Given the description of an element on the screen output the (x, y) to click on. 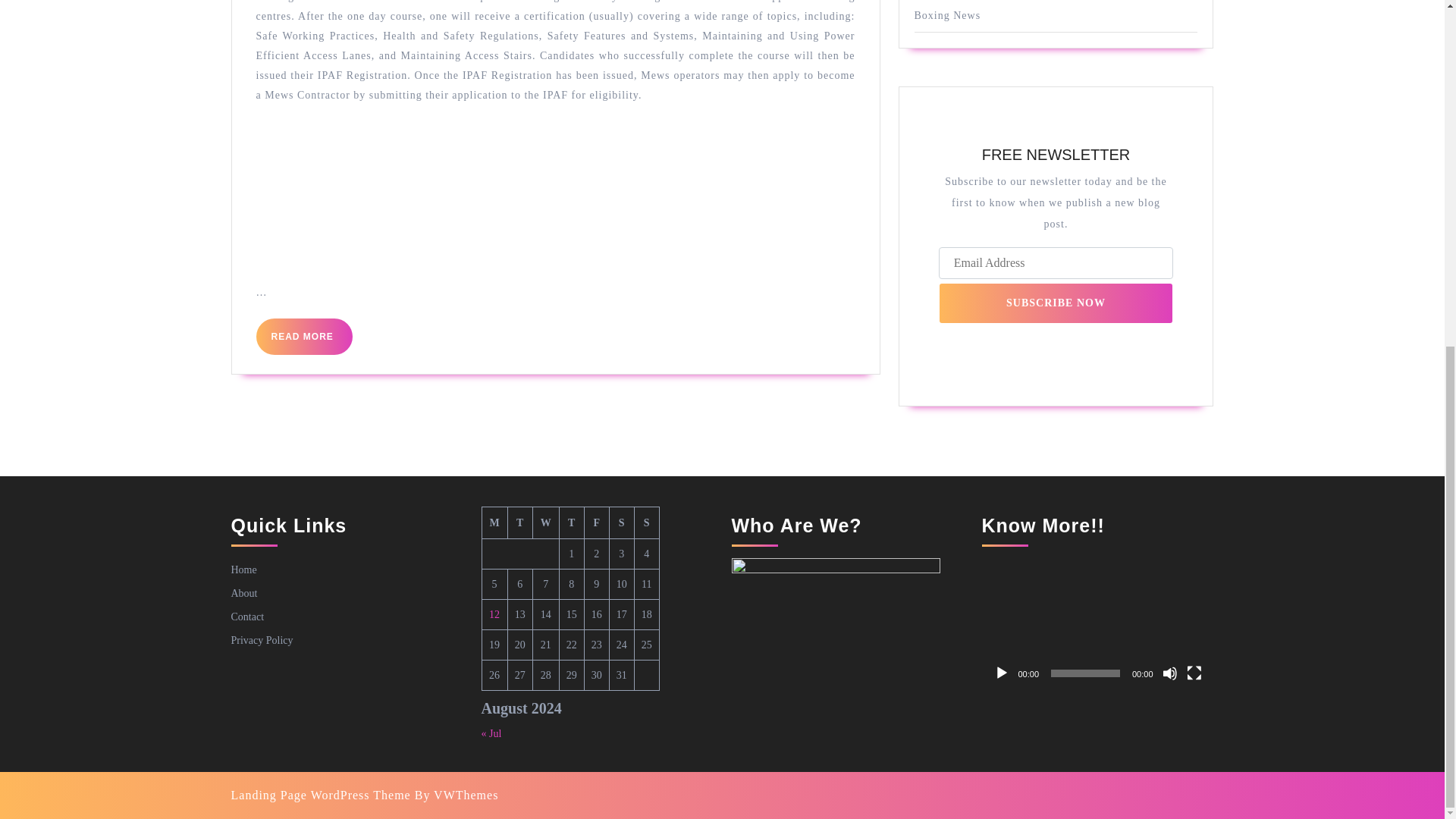
SUBSCRIBE NOW (1056, 302)
Contact (246, 616)
SUBSCRIBE NOW (1056, 302)
Boxing News (947, 15)
Play (1000, 672)
12 (494, 614)
Home (505, 21)
About (243, 569)
Mute (243, 593)
